Given the description of an element on the screen output the (x, y) to click on. 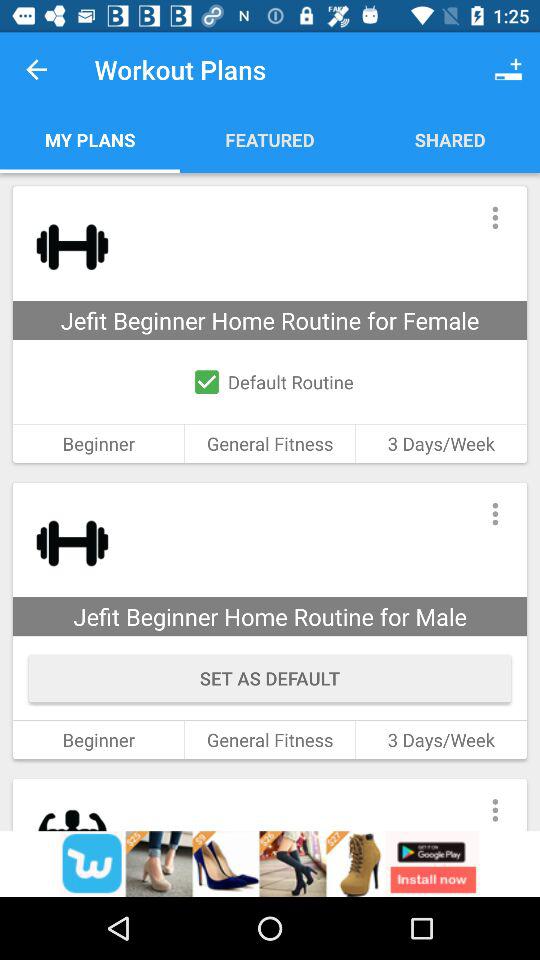
advertisement (270, 864)
